Given the description of an element on the screen output the (x, y) to click on. 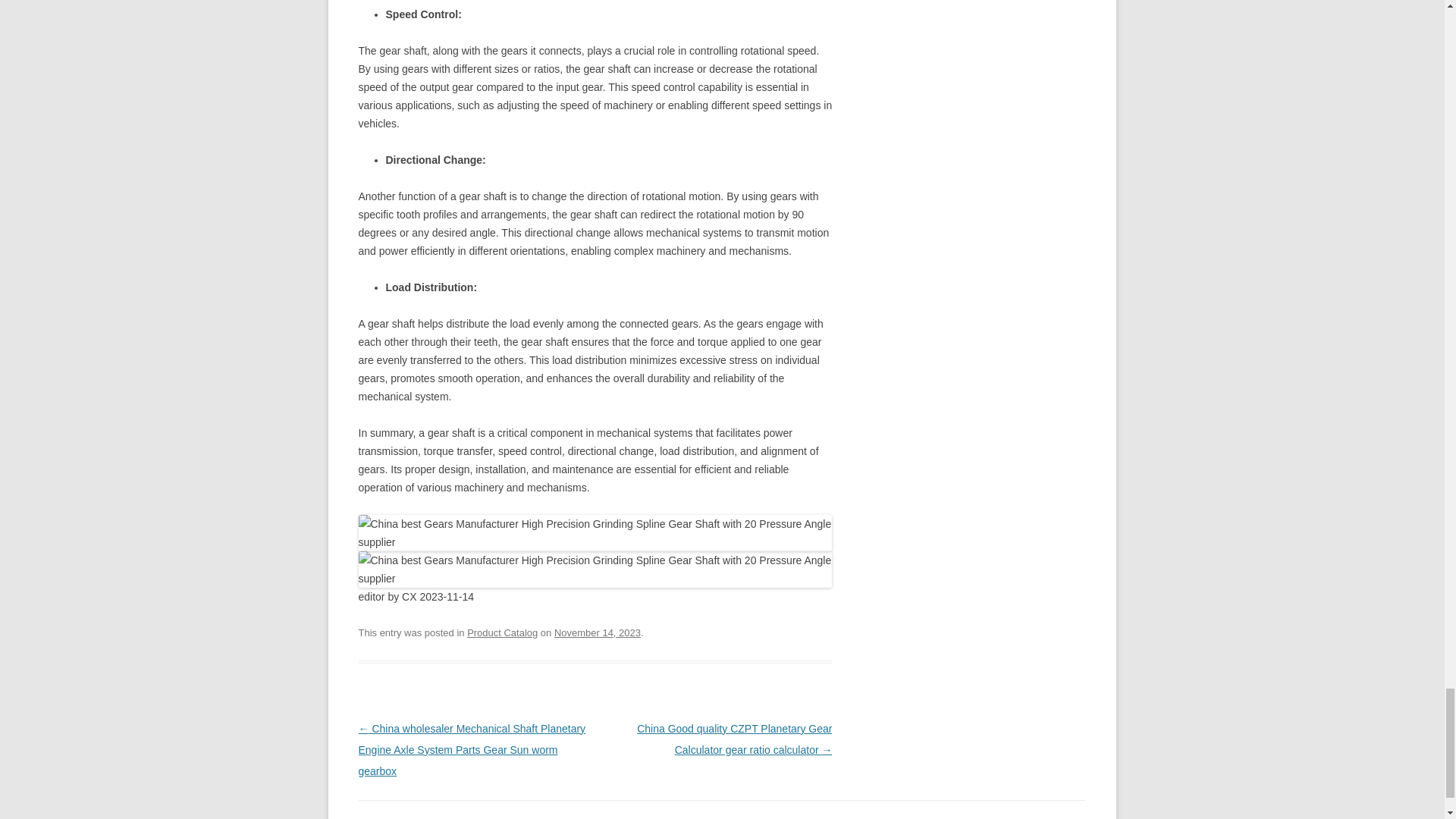
1:28 am (597, 632)
November 14, 2023 (597, 632)
Product Catalog (502, 632)
